Given the description of an element on the screen output the (x, y) to click on. 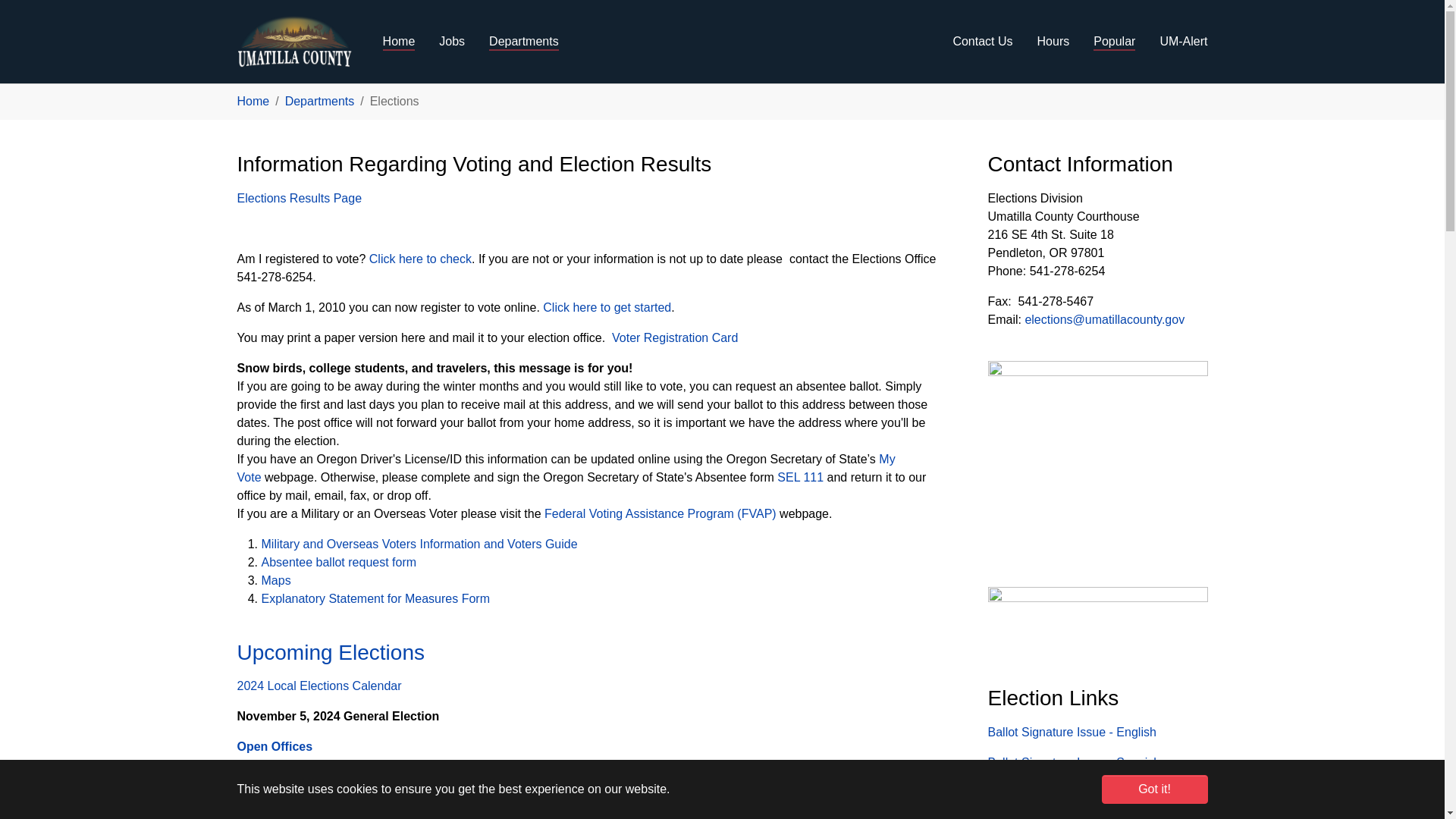
Departments (523, 41)
Jobs (451, 41)
Jobs (451, 41)
Home (399, 41)
Departments (523, 41)
Umatilla Bootstrap (293, 41)
Home (399, 41)
Got it! (1153, 788)
